Given the description of an element on the screen output the (x, y) to click on. 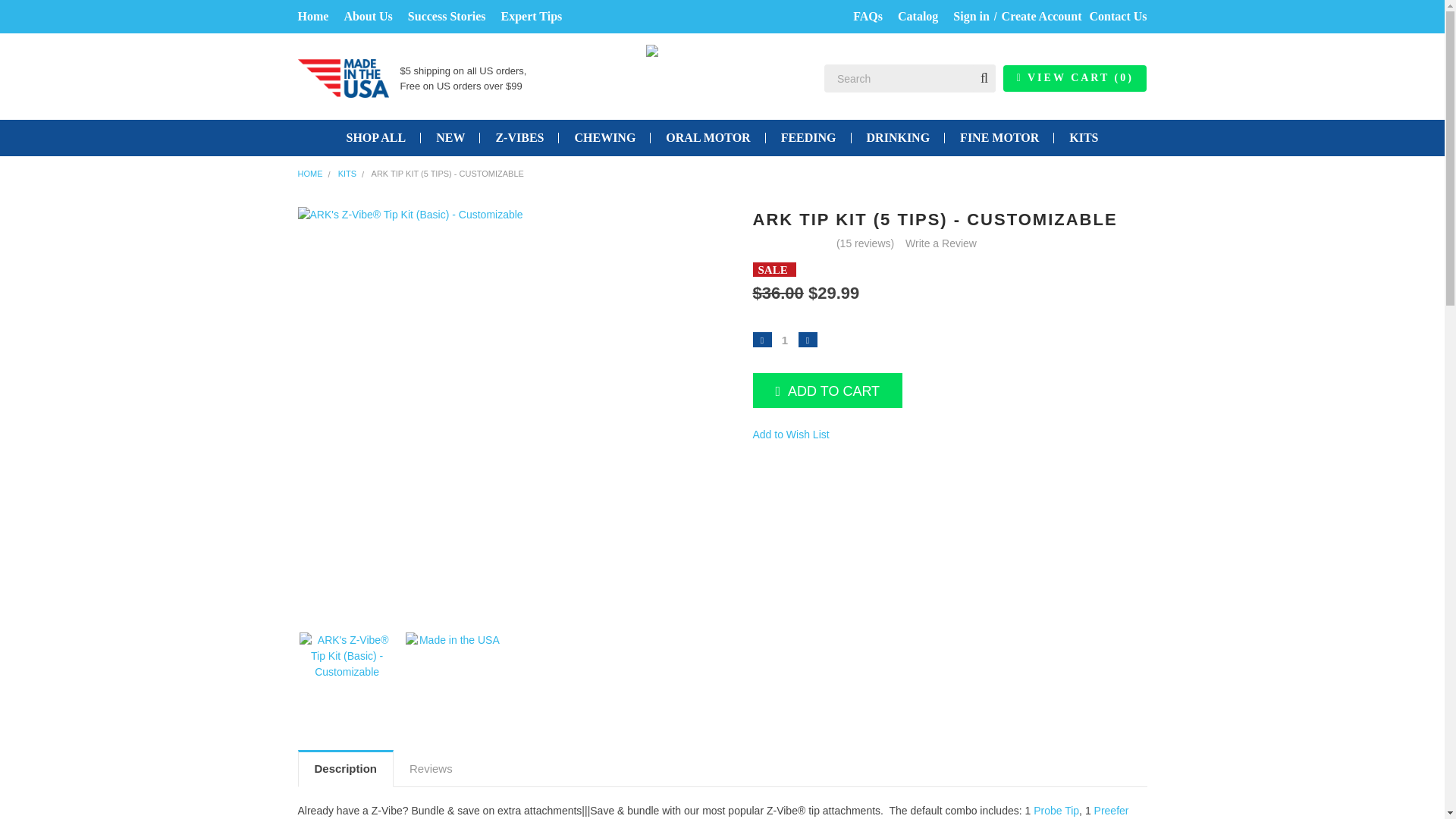
SHOP ALL (375, 137)
Success Stories (446, 16)
Catalog (916, 16)
Sign in (970, 16)
DRINKING (897, 137)
KITS (346, 173)
FINE MOTOR (999, 137)
Home (312, 16)
Create Account (1041, 16)
Expert Tips (531, 16)
